Given the description of an element on the screen output the (x, y) to click on. 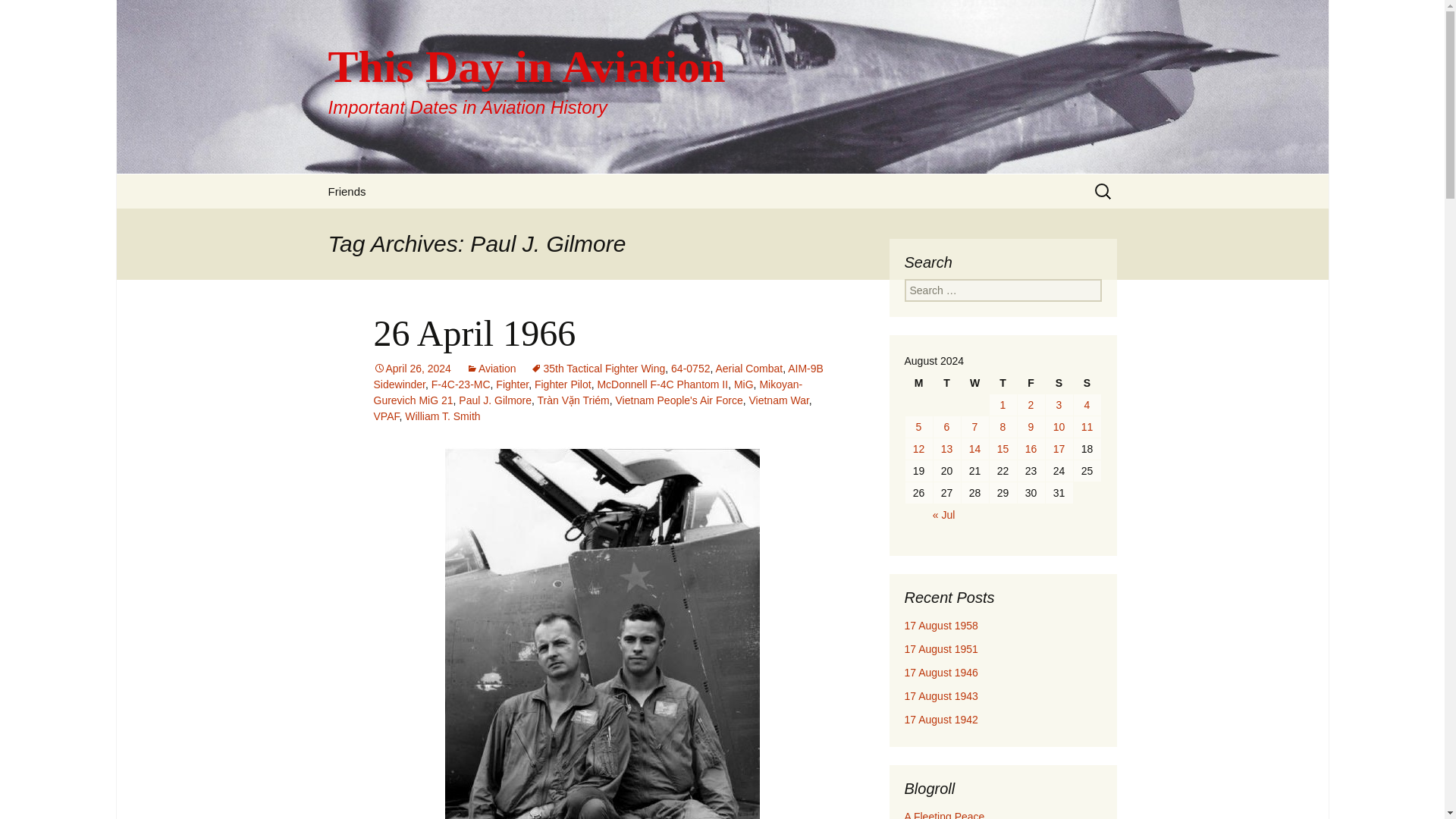
Vietnam War (410, 368)
Monday (778, 399)
26 April 1966 (919, 382)
Wednesday (473, 332)
2 (974, 382)
Sunday (1031, 404)
Paul J. Gilmore (1087, 382)
35th Tactical Fighter Wing (494, 399)
